Given the description of an element on the screen output the (x, y) to click on. 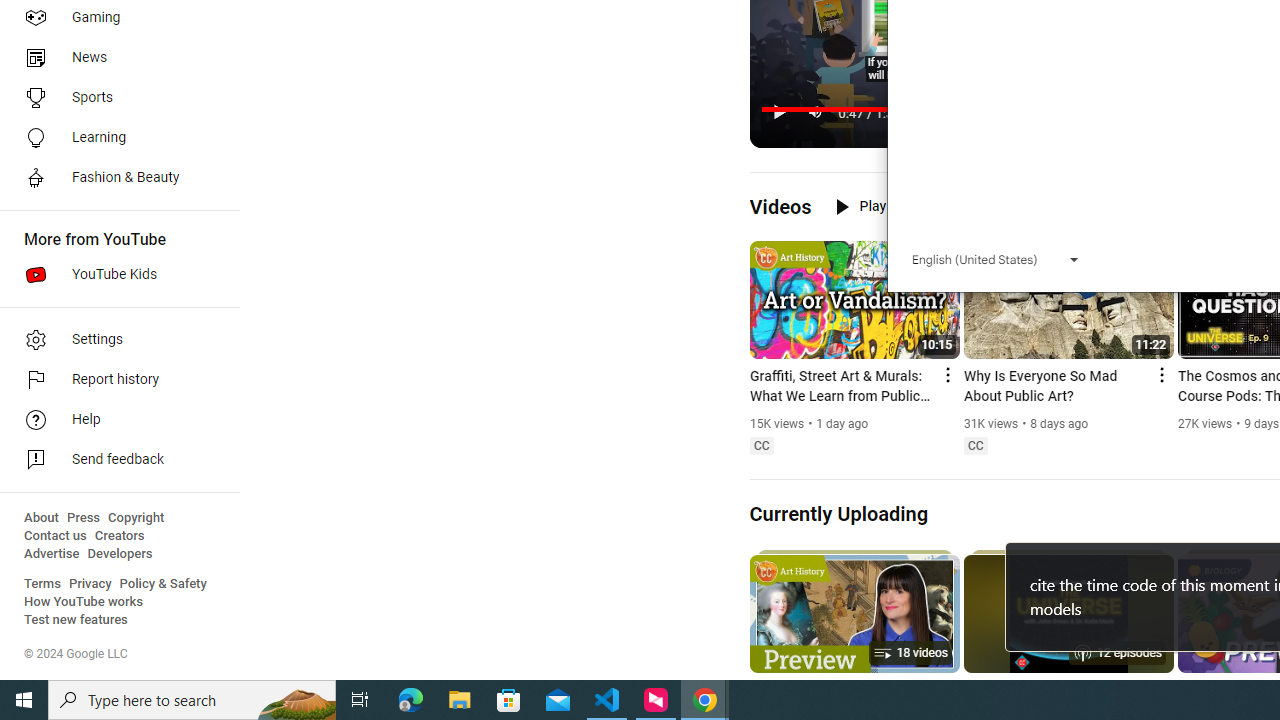
Task View (359, 699)
Copyright (136, 518)
Start (24, 699)
Microsoft Edge (411, 699)
File Explorer (460, 699)
Pause (k) (779, 112)
YouTube Kids (113, 274)
Press (83, 518)
